Given the description of an element on the screen output the (x, y) to click on. 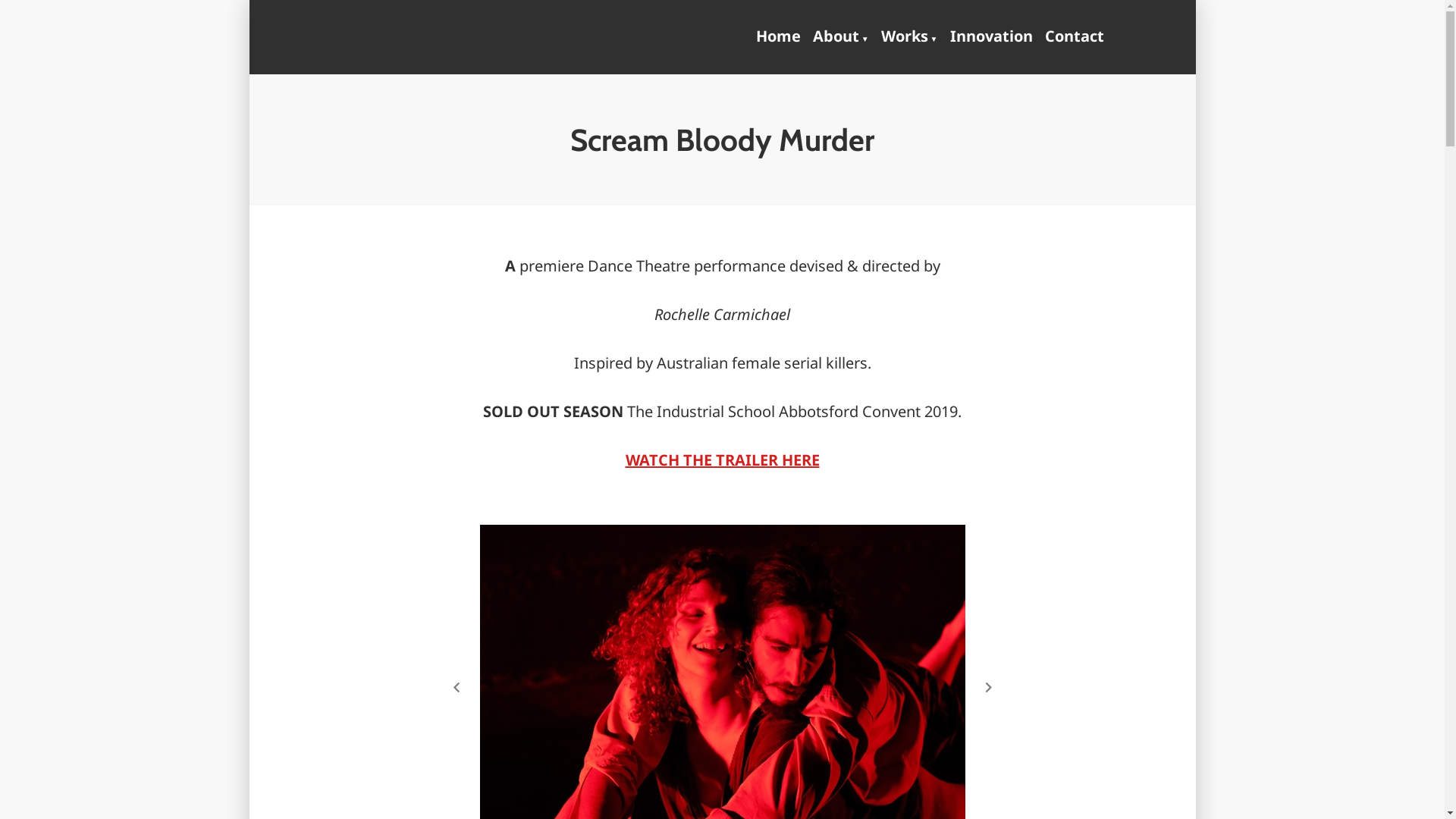
Innovation Element type: text (990, 37)
About Element type: text (840, 37)
Home Element type: text (781, 37)
Works Element type: text (909, 37)
WATCH THE TRAILER HERE Element type: text (721, 459)
Contact Element type: text (1071, 37)
